Given the description of an element on the screen output the (x, y) to click on. 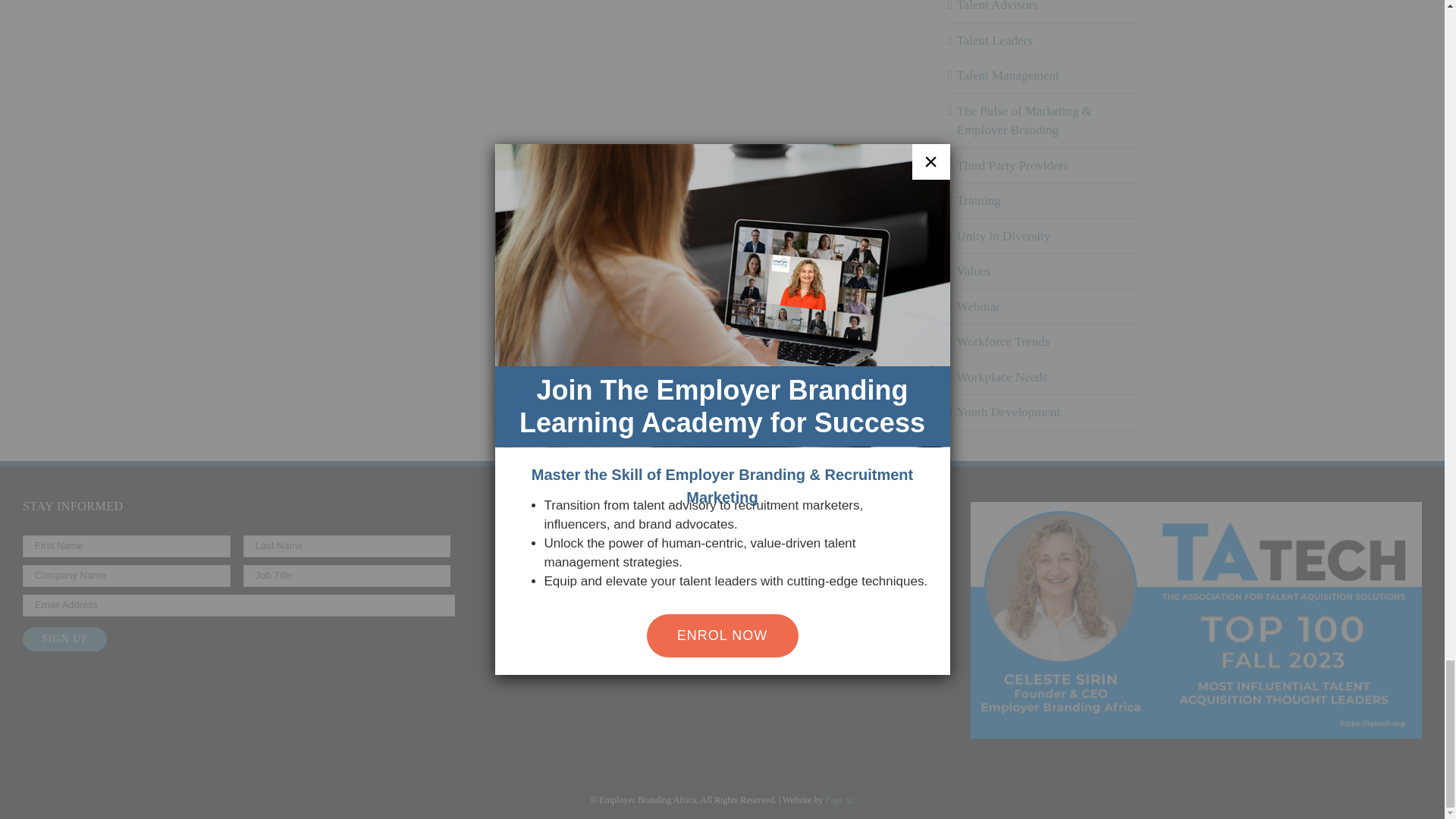
Sign up (64, 639)
